Given the description of an element on the screen output the (x, y) to click on. 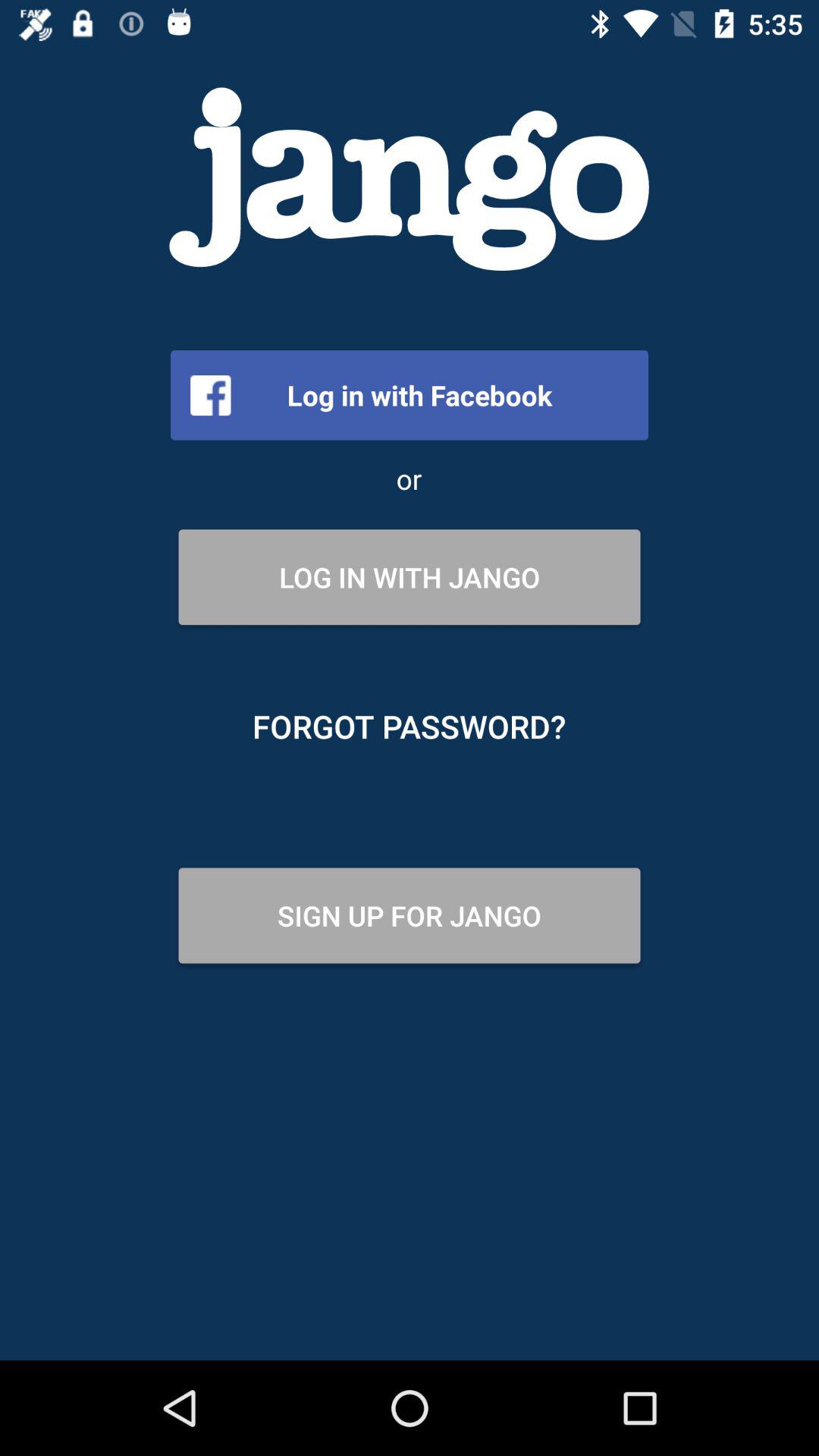
scroll until forgot password? icon (408, 726)
